Given the description of an element on the screen output the (x, y) to click on. 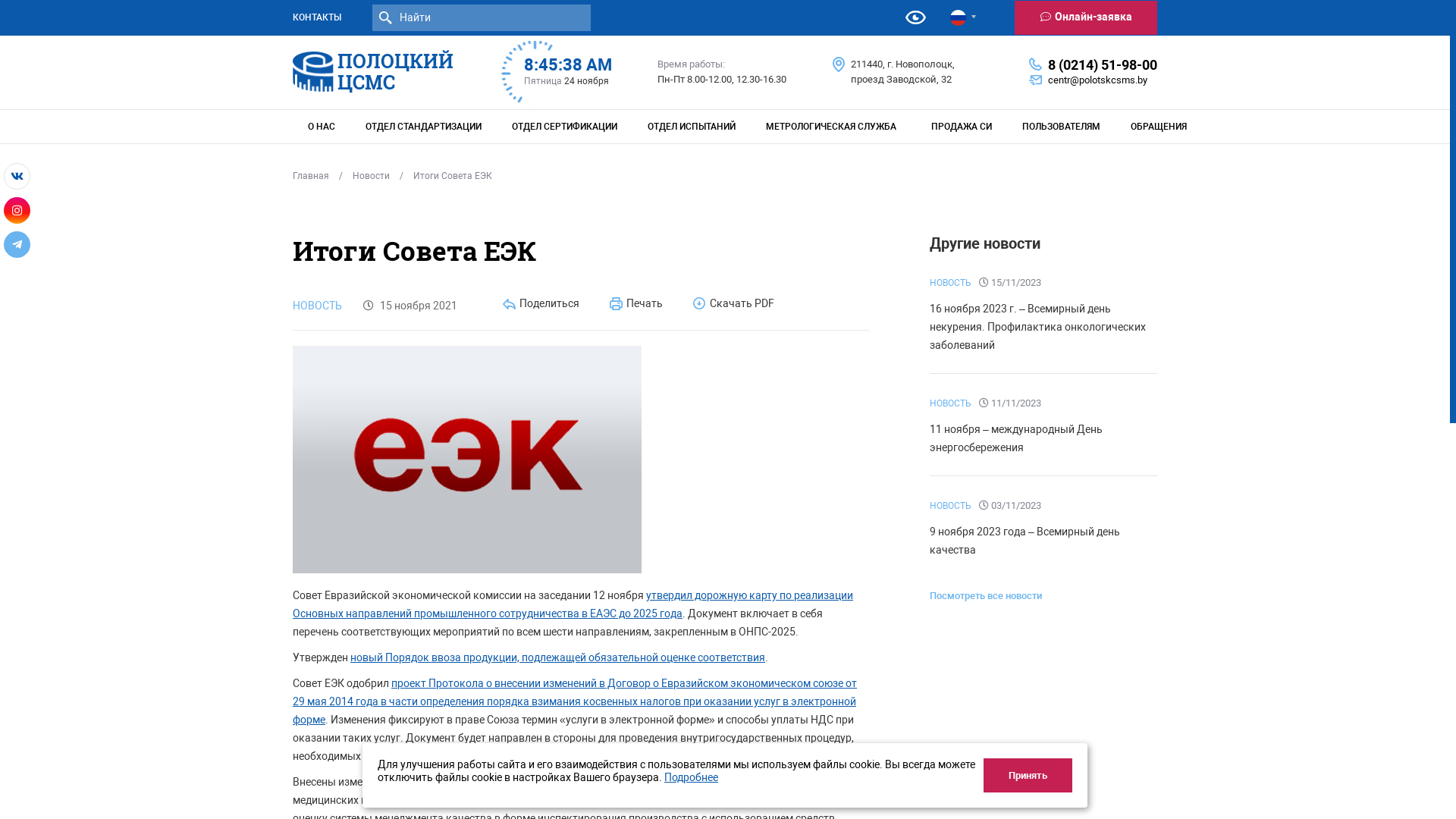
centr@polotskcsms.by Element type: text (1097, 79)
8 (0214) 51-98-00 Element type: text (1102, 64)
Instagram Element type: hover (16, 210)
Telegram Element type: hover (16, 244)
